Given the description of an element on the screen output the (x, y) to click on. 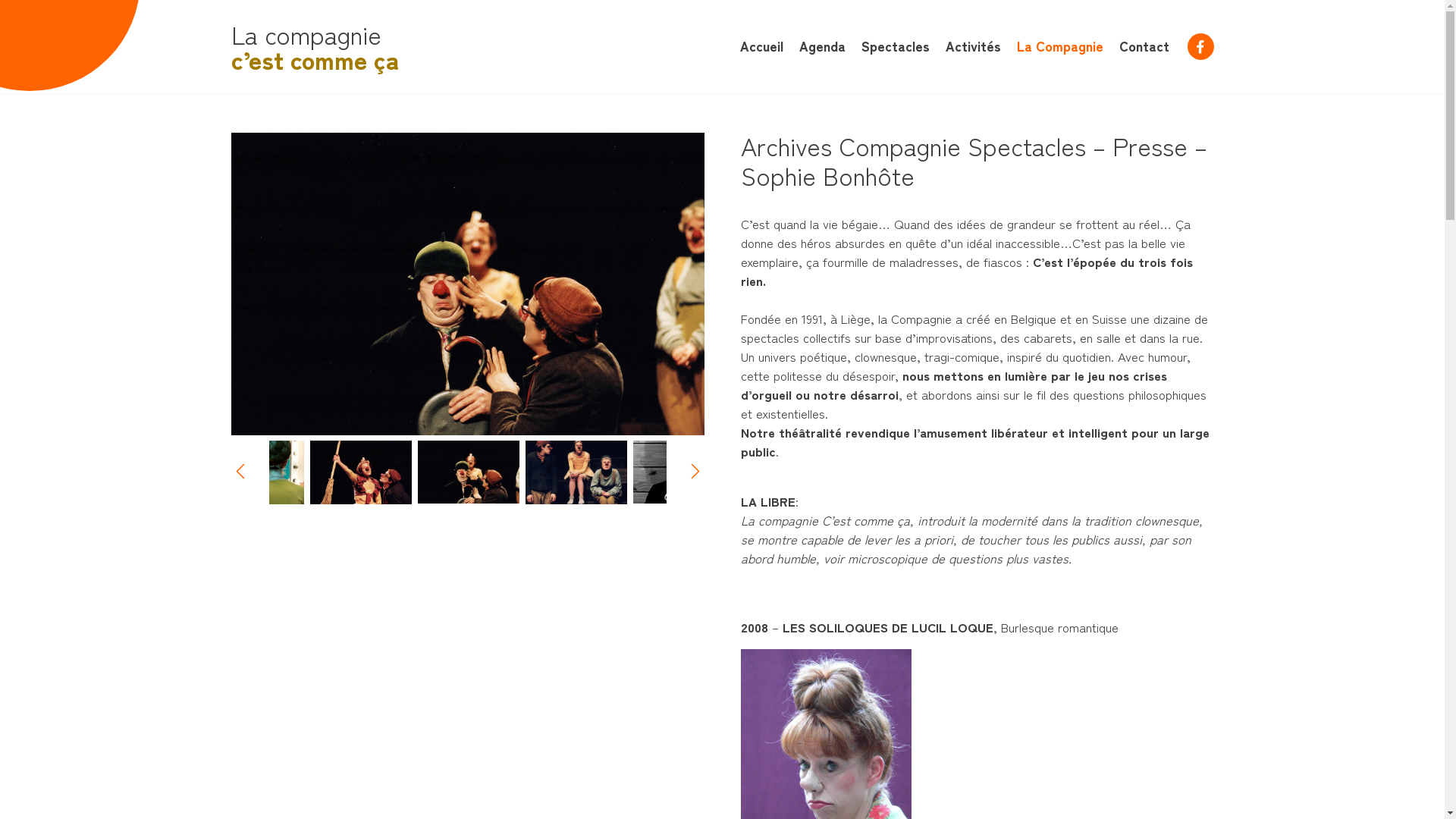
Contact Element type: text (1144, 45)
Agenda Element type: text (822, 45)
Accueil Element type: text (761, 45)
La Compagnie Element type: text (1059, 45)
Spectacles Element type: text (895, 45)
